Given the description of an element on the screen output the (x, y) to click on. 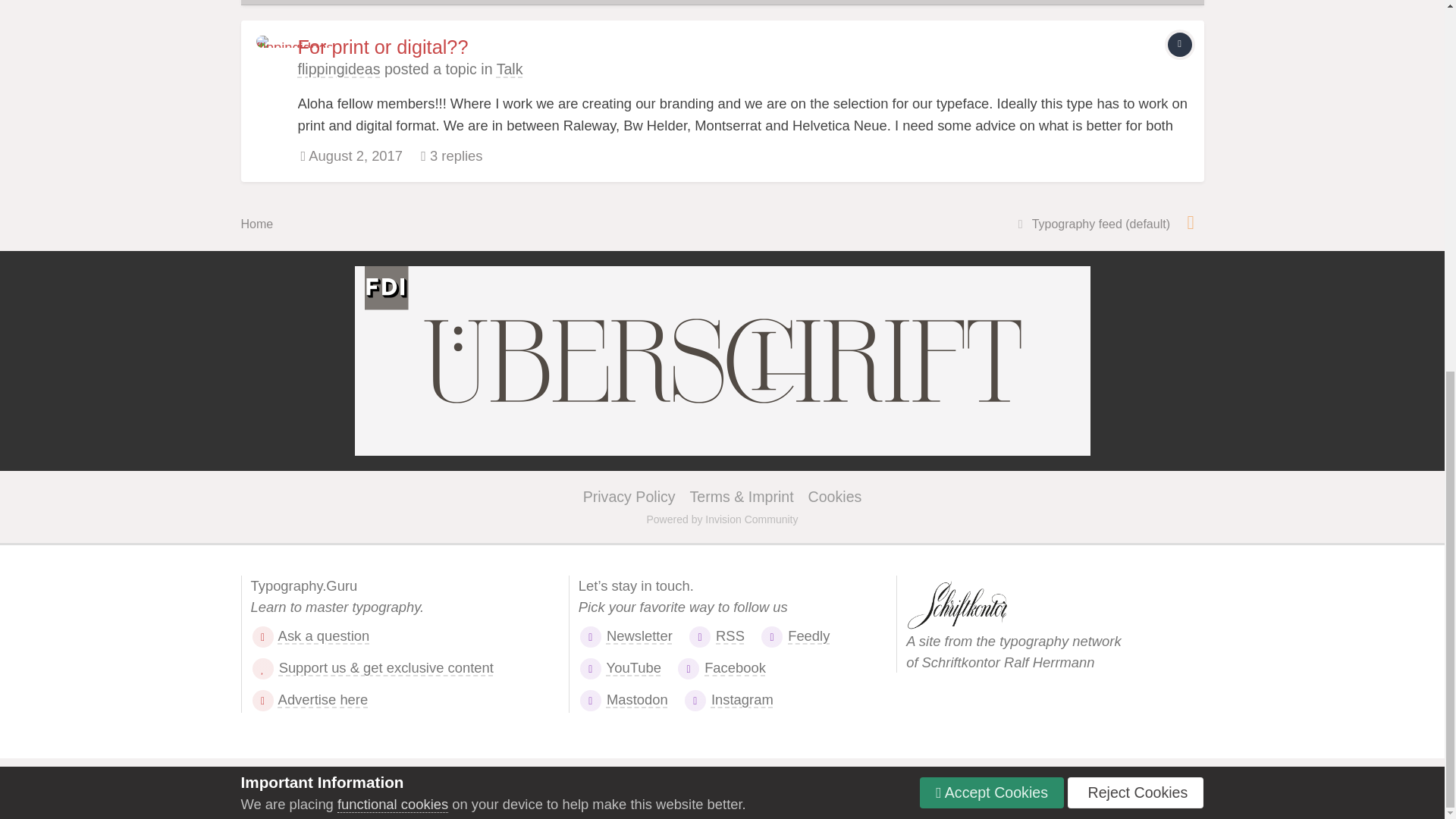
Topic (1179, 44)
Home (257, 223)
Go to flippingideas's profile (338, 68)
Go to flippingideas's profile (272, 52)
Available RSS feeds (1190, 222)
